Given the description of an element on the screen output the (x, y) to click on. 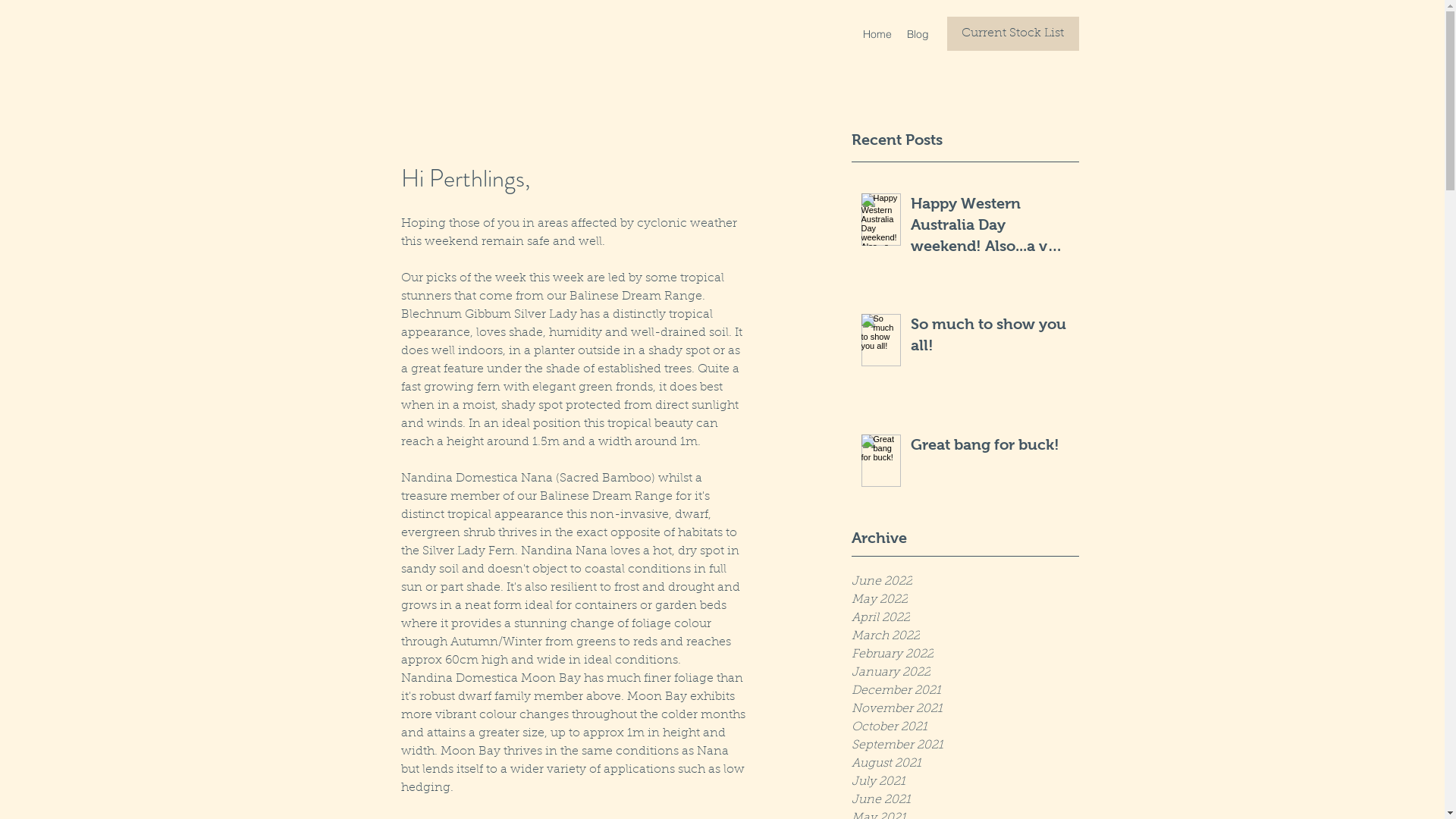
September 2021 Element type: text (964, 745)
Current Stock List Element type: text (1012, 33)
March 2022 Element type: text (964, 636)
October 2021 Element type: text (964, 727)
Great bang for buck! Element type: text (989, 447)
February 2022 Element type: text (964, 654)
December 2021 Element type: text (964, 690)
November 2021 Element type: text (964, 708)
May 2022 Element type: text (964, 599)
Blog Element type: text (917, 33)
April 2022 Element type: text (964, 617)
So much to show you all! Element type: text (989, 337)
June 2021 Element type: text (964, 799)
January 2022 Element type: text (964, 672)
Home Element type: text (877, 33)
July 2021 Element type: text (964, 781)
June 2022 Element type: text (964, 581)
August 2021 Element type: text (964, 763)
